Given the description of an element on the screen output the (x, y) to click on. 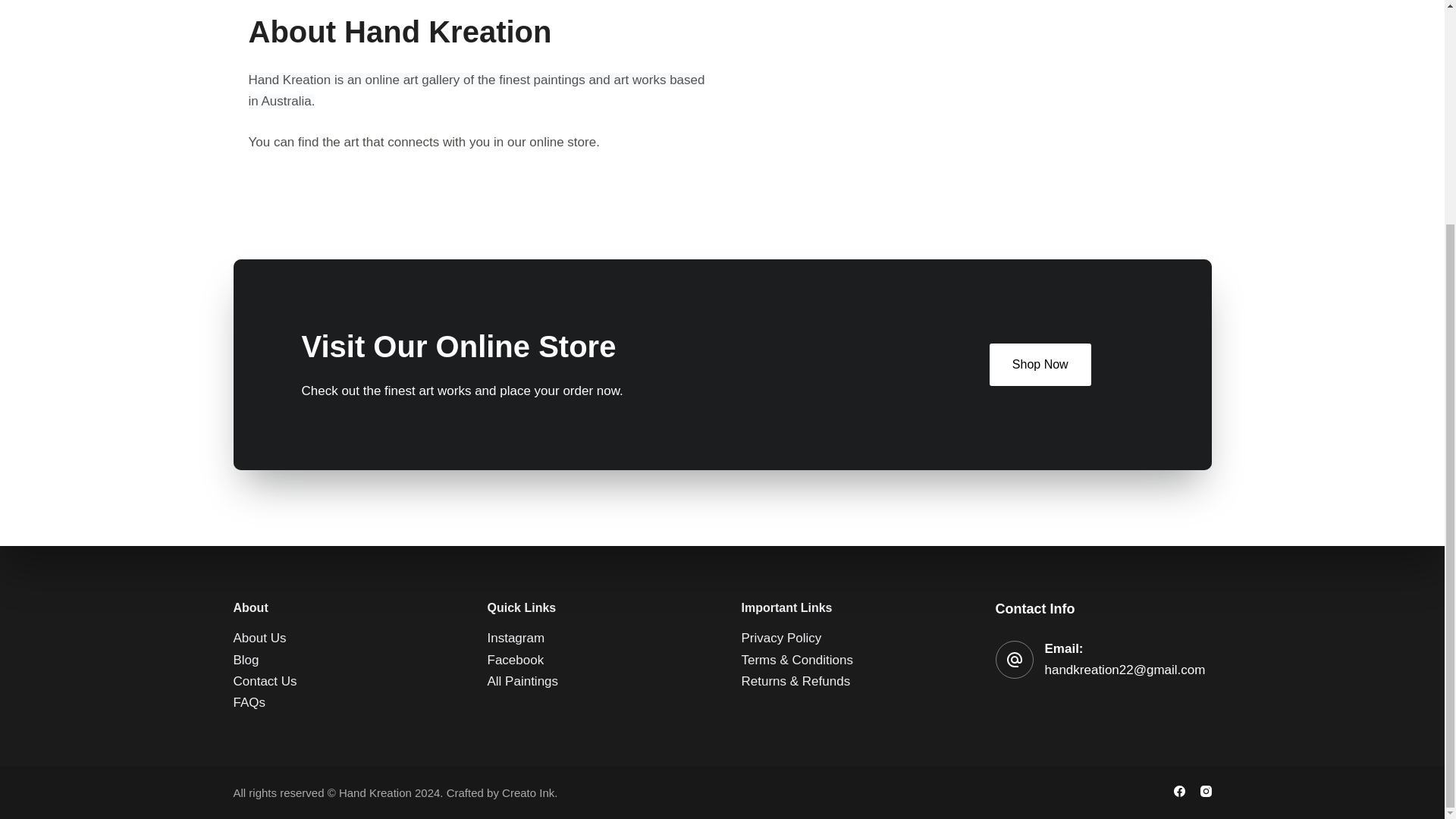
Shop Now (1040, 364)
All Paintings (521, 380)
FAQs (249, 401)
About Us (259, 338)
Facebook (514, 359)
Privacy Policy (781, 338)
Contact Us (264, 380)
Instagram (515, 338)
Blog (245, 359)
